Given the description of an element on the screen output the (x, y) to click on. 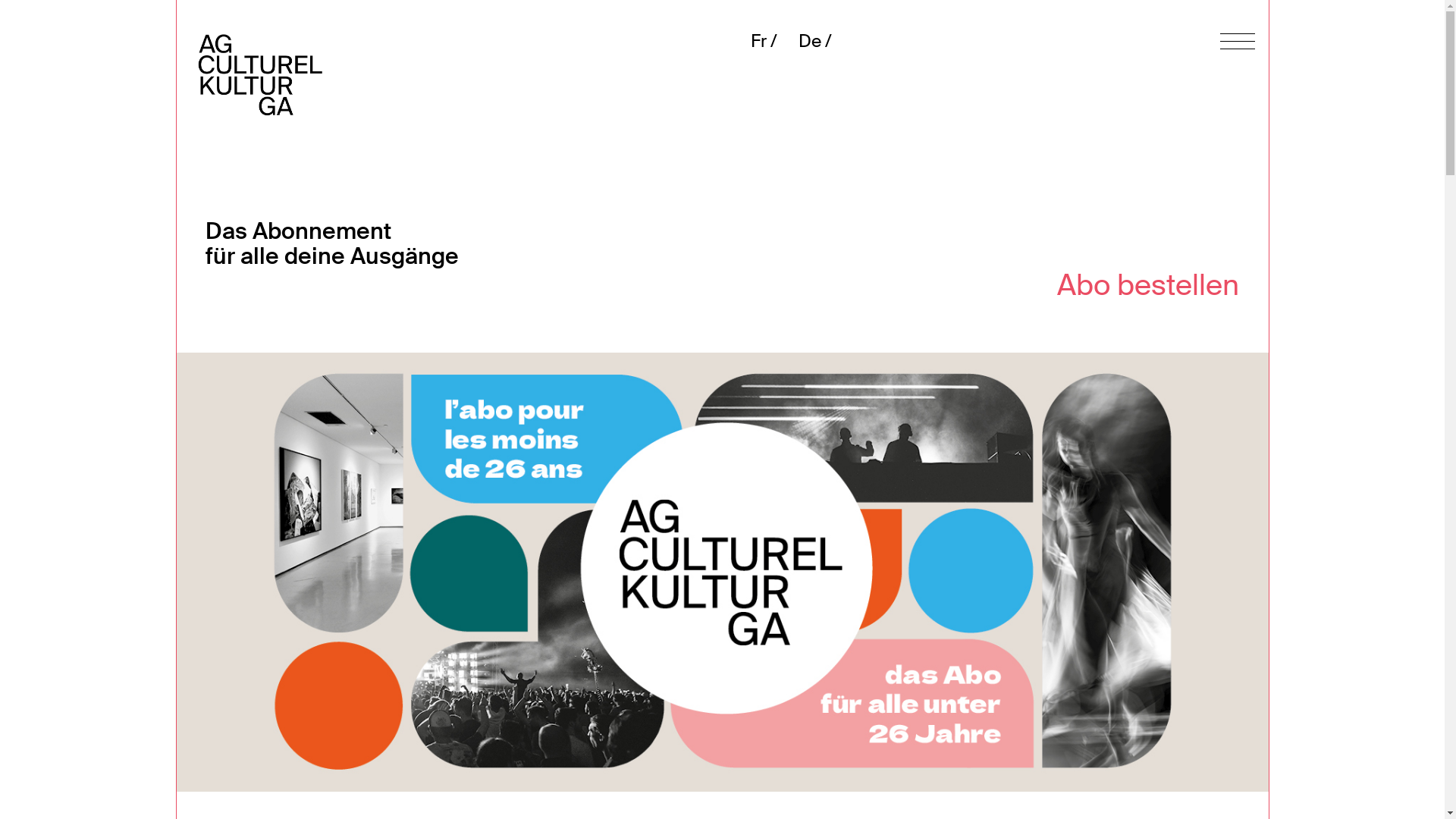
de / Element type: text (803, 72)
Abo bestellen Element type: text (1162, 259)
fr / Element type: text (748, 72)
AG culturel | Kultur-GA Element type: text (448, 72)
